Given the description of an element on the screen output the (x, y) to click on. 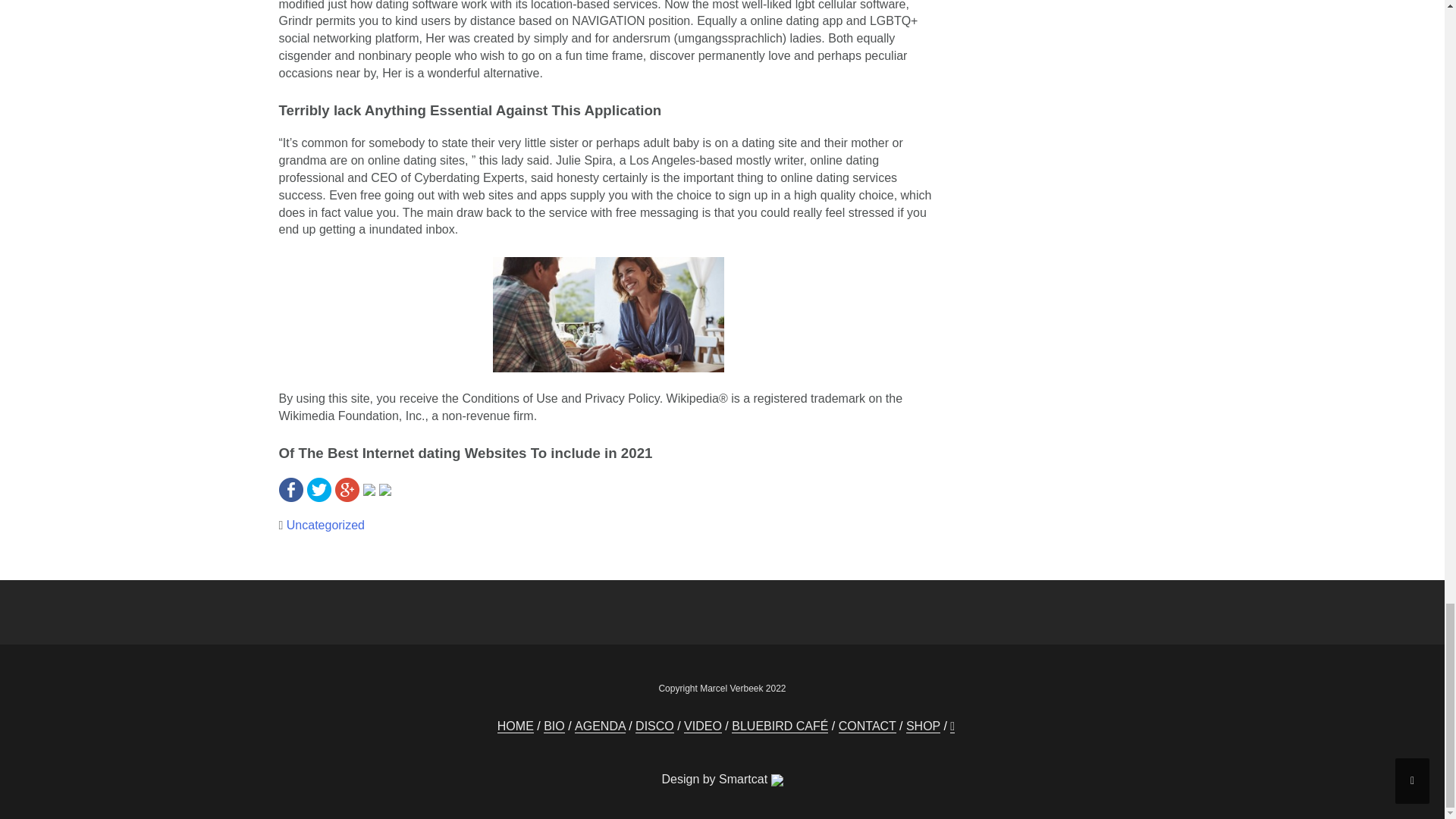
HOME (515, 726)
Design by Smartcat (721, 779)
AGENDA (600, 726)
VIDEO (703, 726)
CONTACT (867, 726)
SHOP (922, 726)
DISCO (654, 726)
Uncategorized (325, 524)
BIO (553, 726)
